Given the description of an element on the screen output the (x, y) to click on. 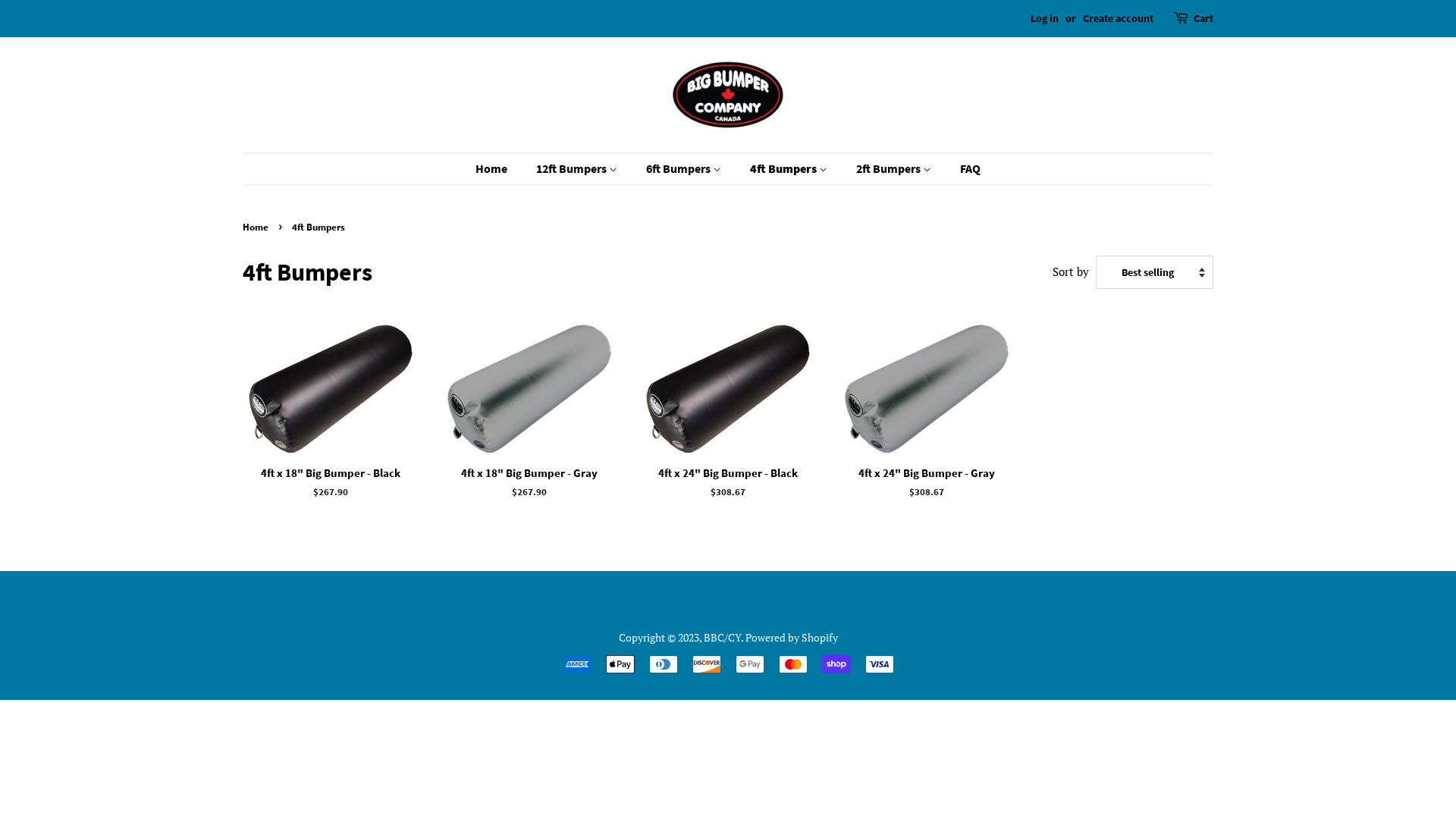
2ft Bumpers Element type: text (895, 168)
Powered by Shopify Element type: text (790, 637)
4ft x 24" Big Bumper - Gray
Regular price
$308.67 Element type: text (926, 422)
Cart Element type: text (1203, 18)
4ft x 18" Big Bumper - Gray
Regular price
$267.90 Element type: text (529, 422)
BBC/CY Element type: text (721, 637)
6ft Bumpers Element type: text (685, 168)
Create account Element type: text (1117, 18)
Log in Element type: text (1044, 18)
Home Element type: text (257, 226)
4ft x 18" Big Bumper - Black
Regular price
$267.90 Element type: text (330, 422)
Home Element type: text (498, 168)
FAQ Element type: text (964, 168)
4ft x 24" Big Bumper - Black
Regular price
$308.67 Element type: text (727, 422)
12ft Bumpers Element type: text (578, 168)
4ft Bumpers Element type: text (790, 168)
